Given the description of an element on the screen output the (x, y) to click on. 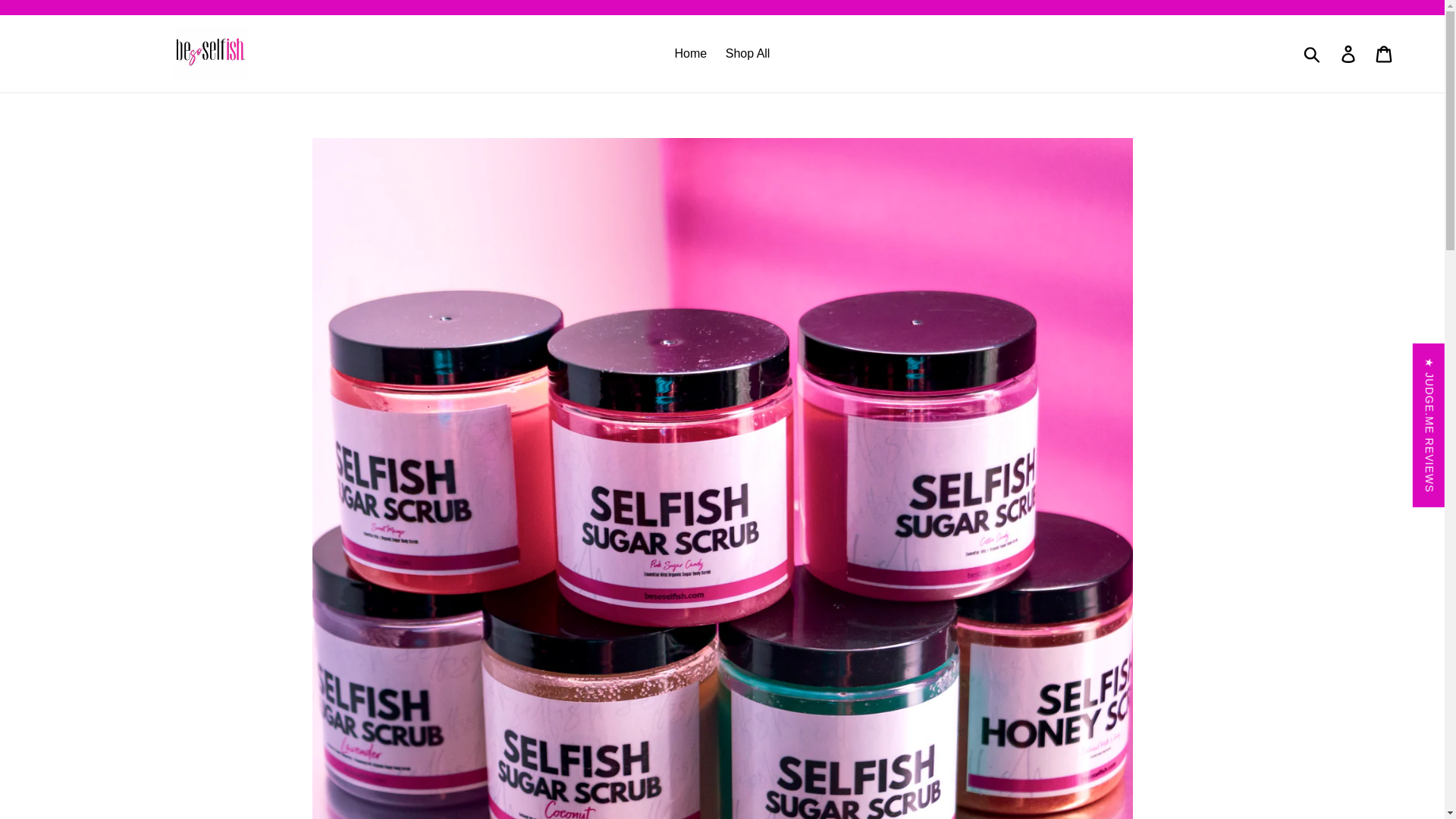
Submit (1313, 53)
Cart (1385, 53)
Shop All (747, 53)
Home (690, 53)
Log in (1349, 53)
